Given the description of an element on the screen output the (x, y) to click on. 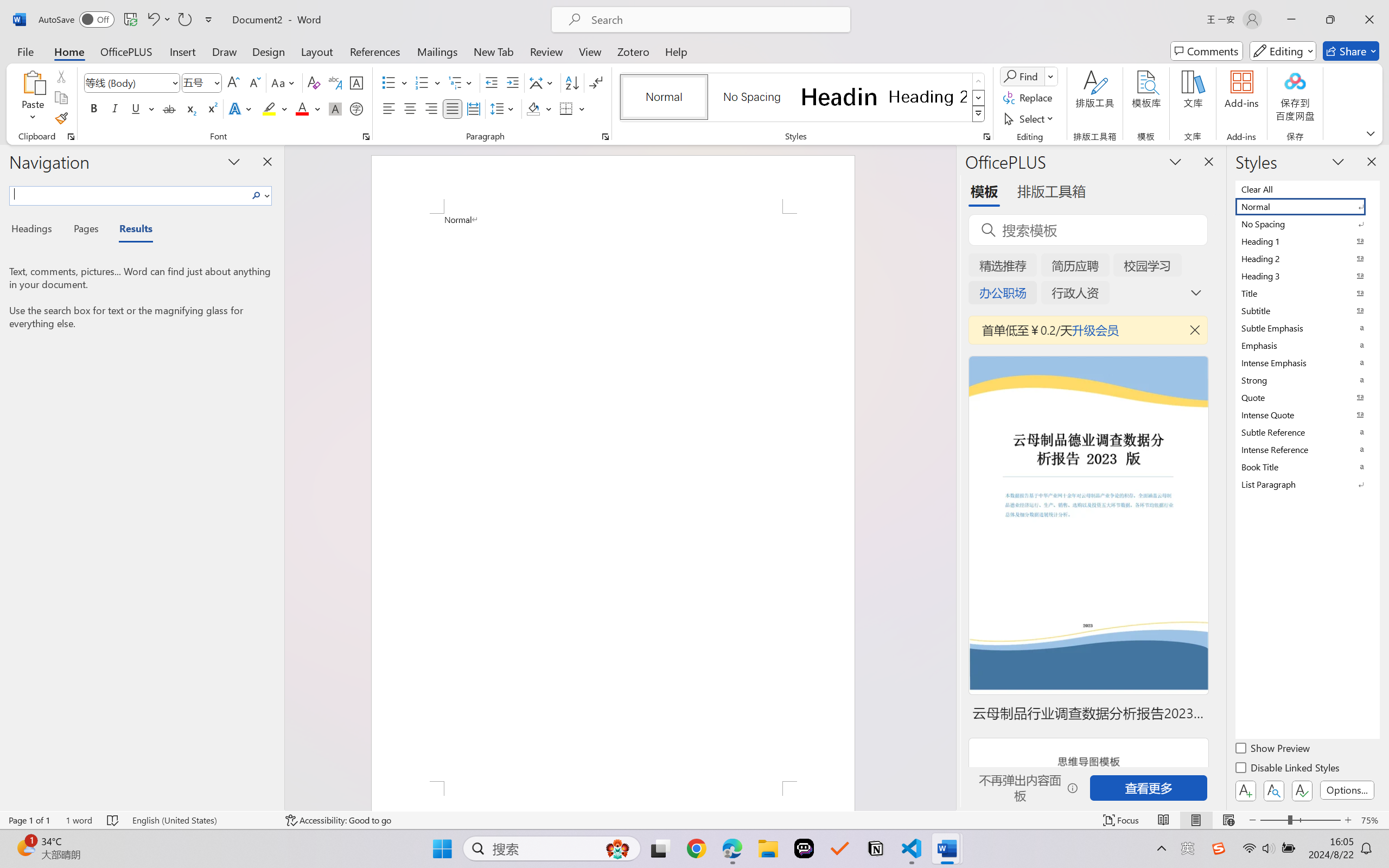
Quick Access Toolbar (127, 19)
Spelling and Grammar Check No Errors (113, 819)
Intense Reference (1306, 449)
Class: NetUIImage (978, 114)
Change Case (284, 82)
Options... (1346, 789)
Underline (142, 108)
Shading (539, 108)
No Spacing (1306, 223)
Undo Apply Quick Style (152, 19)
Paste (33, 97)
Emphasis (1306, 345)
Subtle Emphasis (1306, 327)
